Given the description of an element on the screen output the (x, y) to click on. 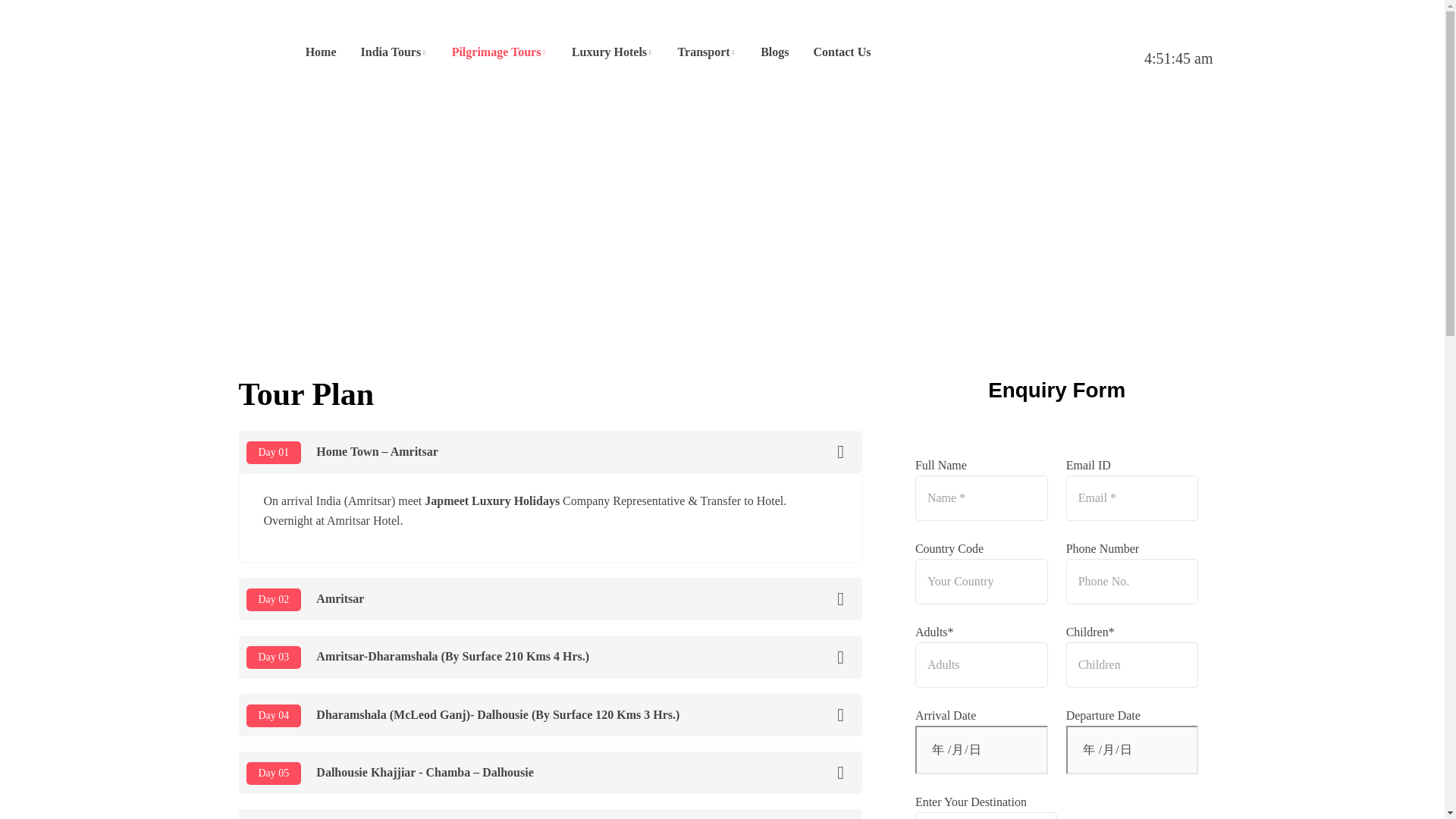
Home (321, 52)
India Tours (394, 52)
Pilgrimage Tours (499, 52)
India Tours (394, 52)
Home (321, 52)
